Given the description of an element on the screen output the (x, y) to click on. 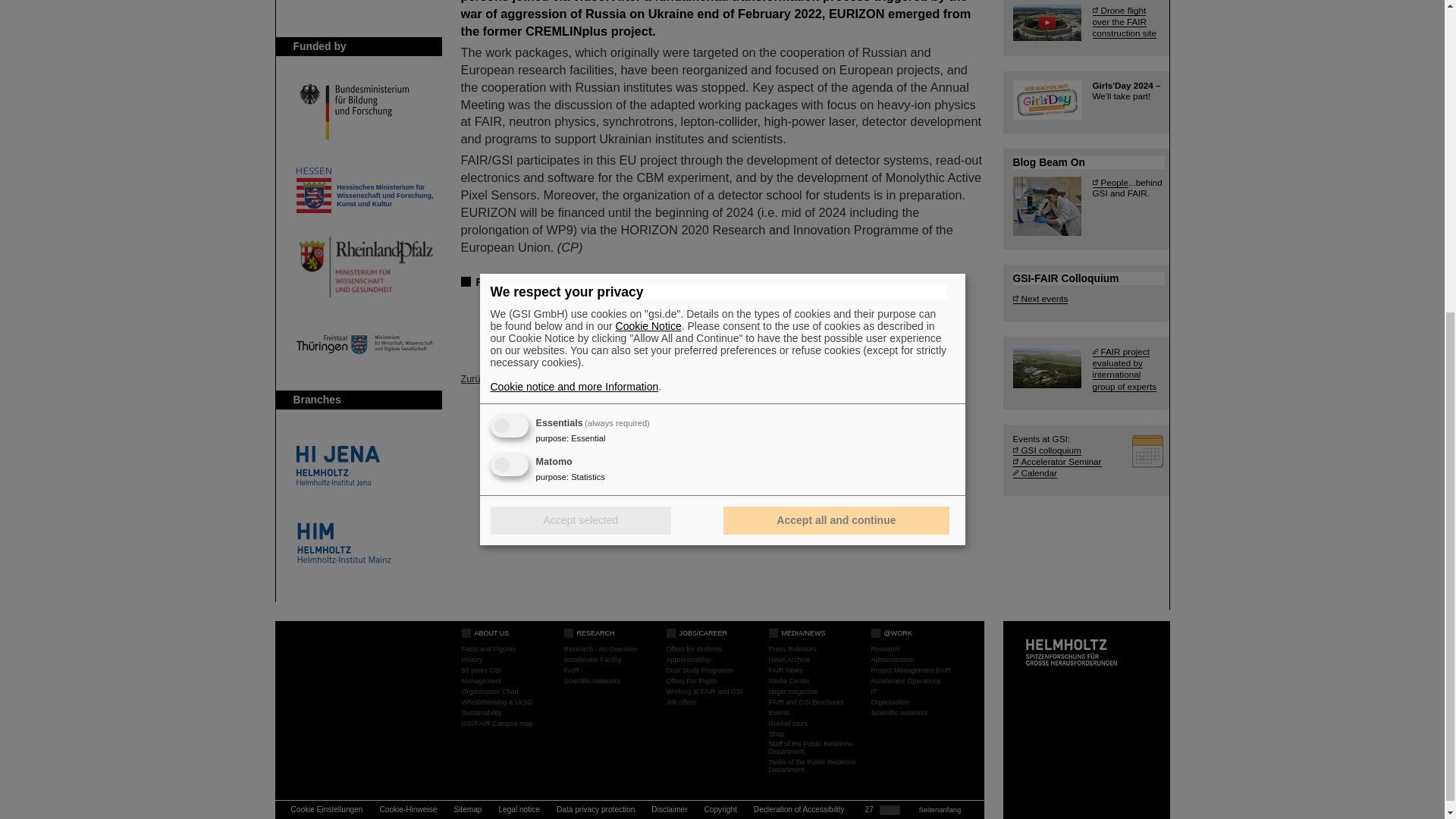
MWWK (363, 266)
BMBF (363, 111)
HI Jena (363, 465)
HI Mainz (363, 542)
HMWK (363, 189)
TMWWDG (363, 343)
